Given the description of an element on the screen output the (x, y) to click on. 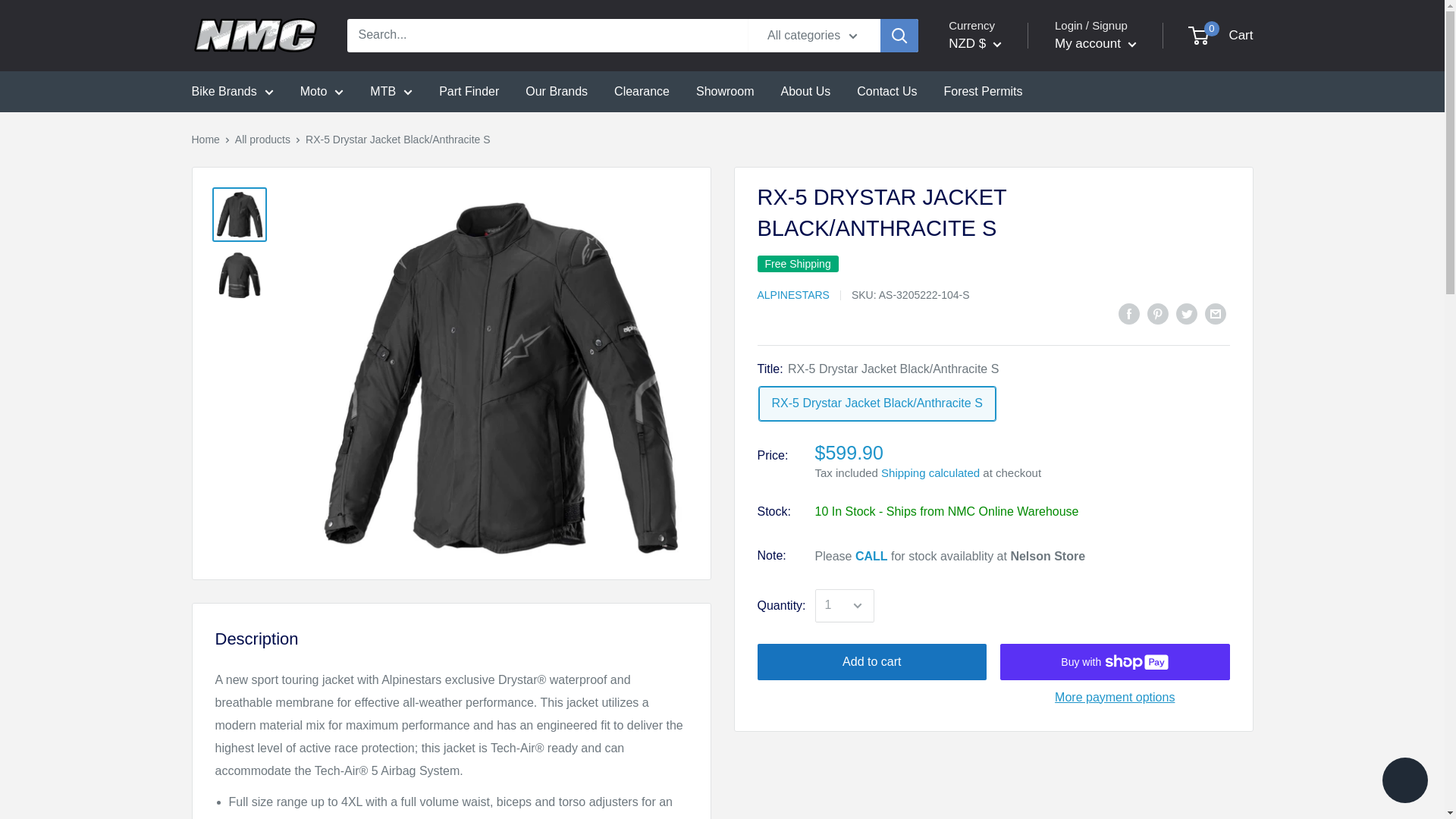
Shopify online store chat (1404, 781)
